Given the description of an element on the screen output the (x, y) to click on. 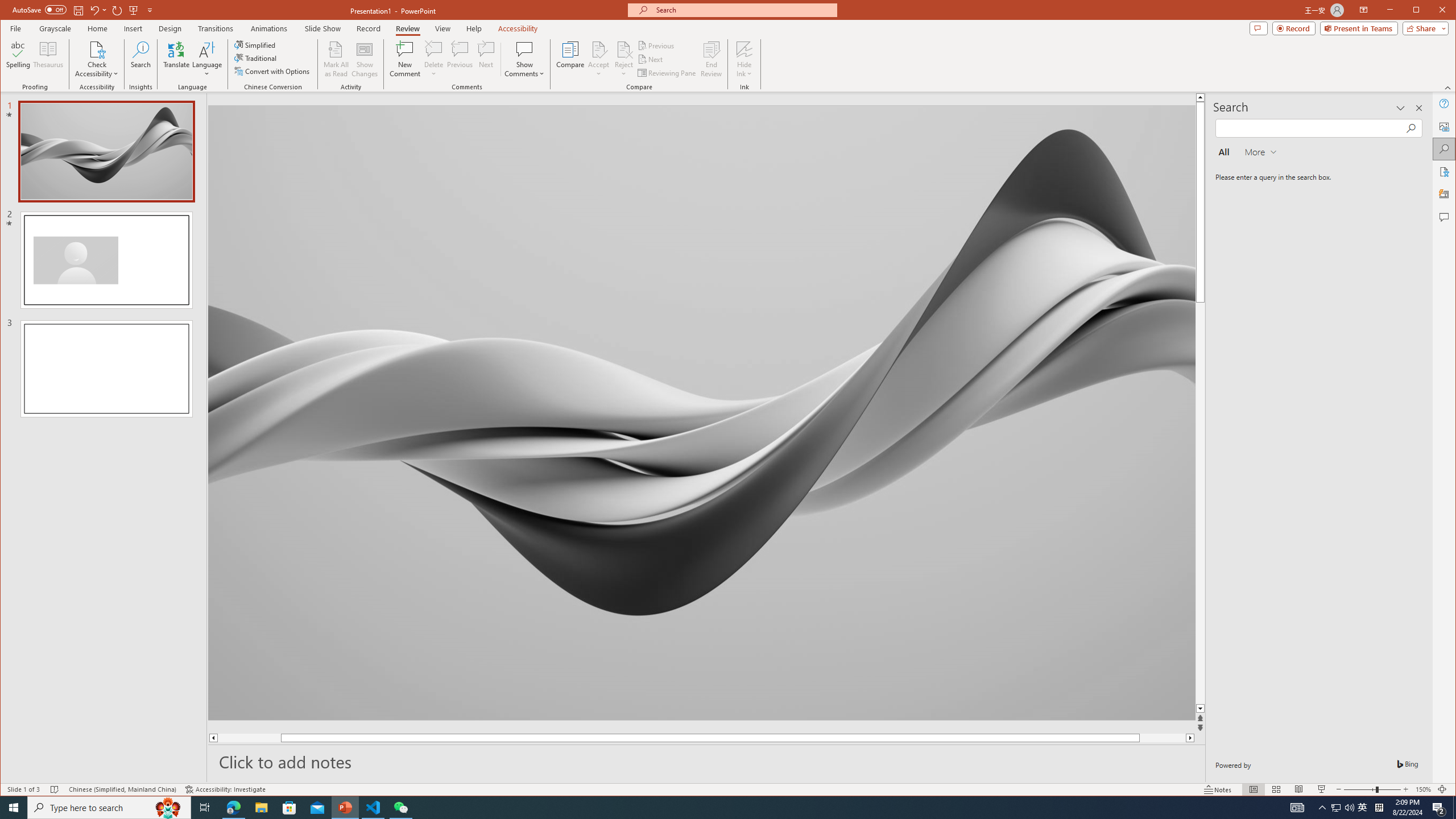
Thesaurus... (48, 59)
Compare (569, 59)
